Given the description of an element on the screen output the (x, y) to click on. 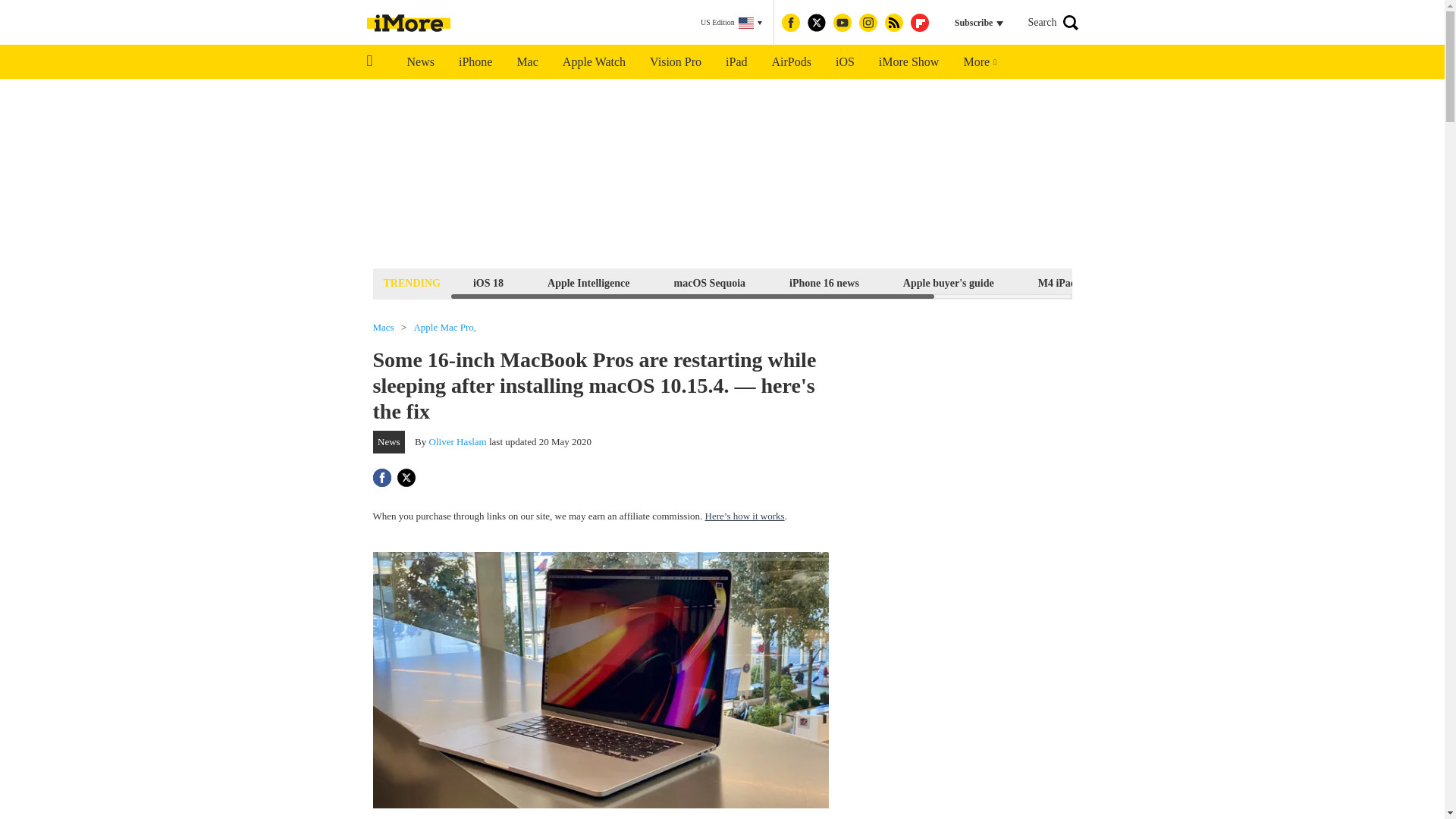
iMore Show (909, 61)
US Edition (731, 22)
News (419, 61)
iPad (735, 61)
iPhone (474, 61)
Apple Watch (593, 61)
AirPods (792, 61)
Mac (526, 61)
Vision Pro (675, 61)
iOS (845, 61)
